Given the description of an element on the screen output the (x, y) to click on. 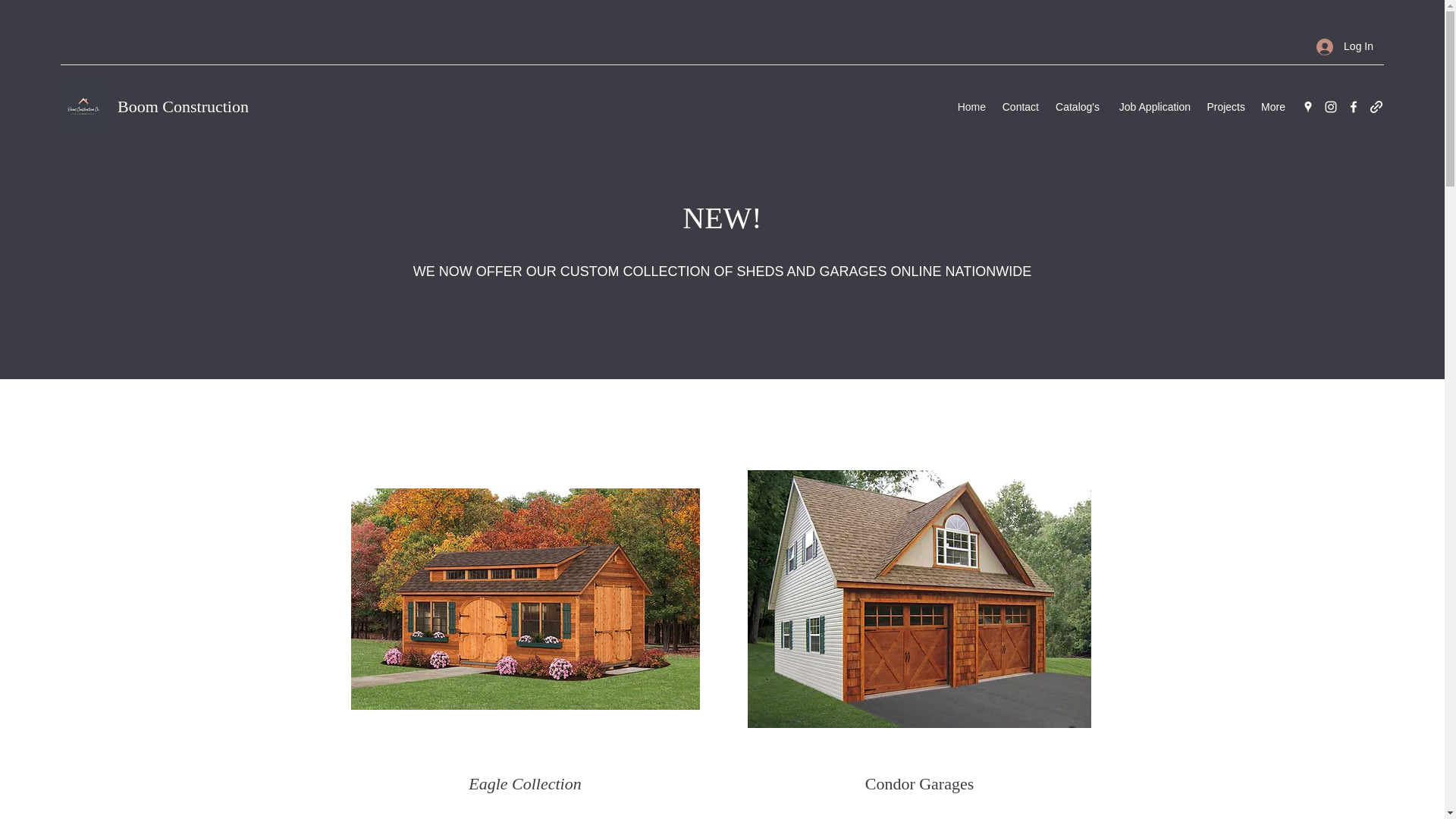
Catalog's (1076, 106)
Log In (1345, 46)
Projects (1225, 106)
Boom Construction (182, 106)
Contact (1019, 106)
Home (970, 106)
Job Application (1152, 106)
